Given the description of an element on the screen output the (x, y) to click on. 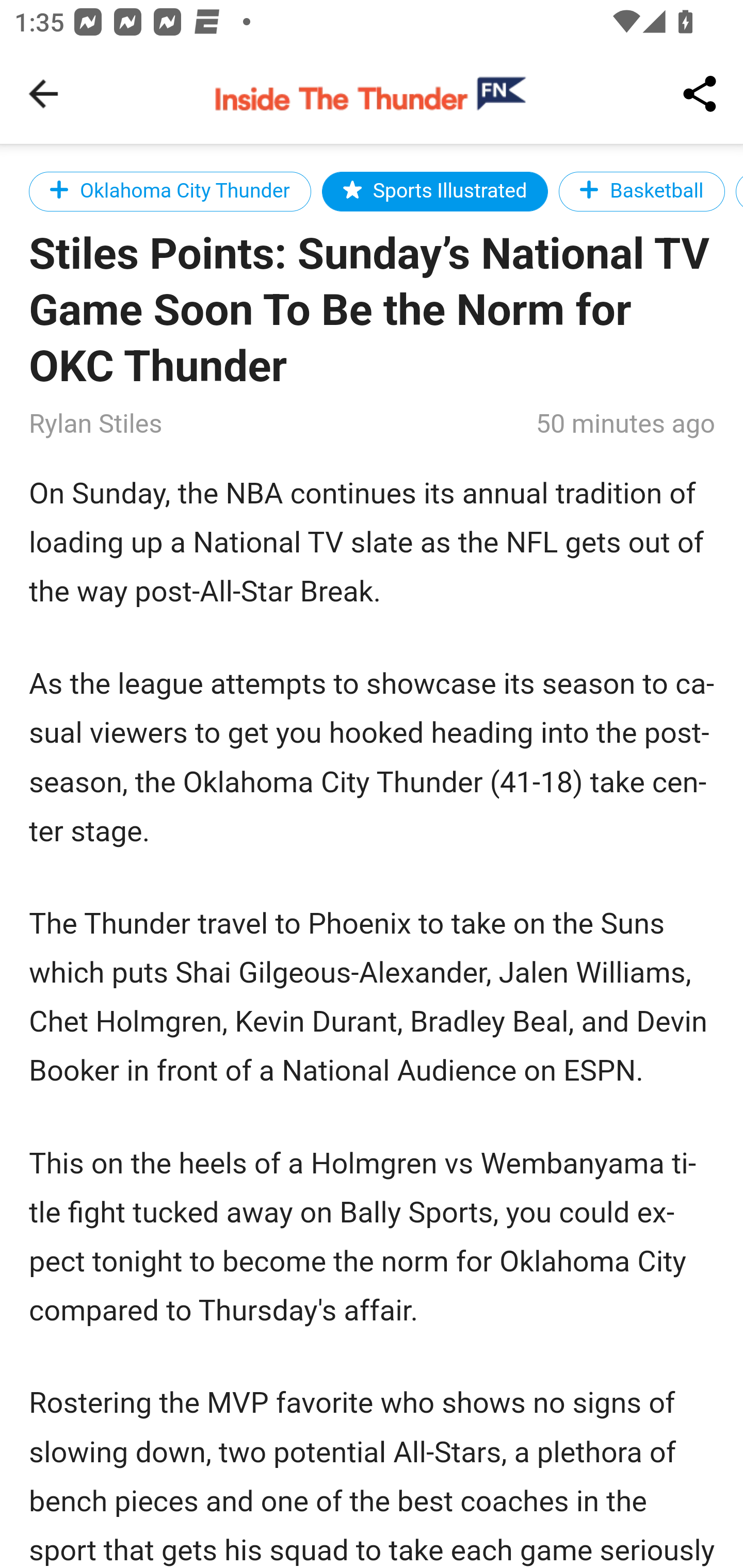
Oklahoma City Thunder (170, 191)
Sports Illustrated (435, 191)
Basketball (641, 191)
